Given the description of an element on the screen output the (x, y) to click on. 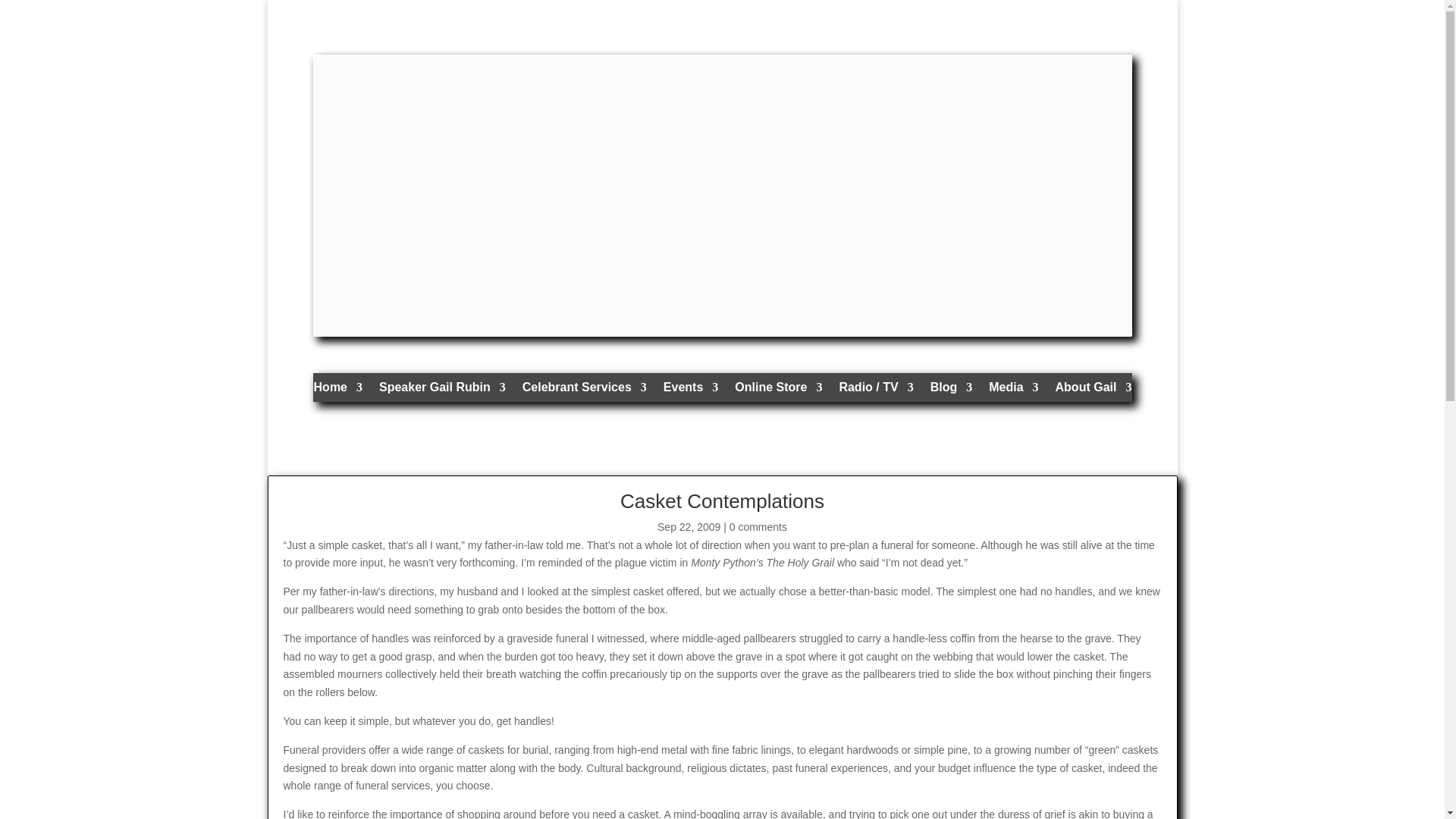
Blog (951, 390)
Speaker Gail Rubin (441, 390)
Funeral Services (584, 390)
Online Store (778, 390)
Home (338, 390)
Events (690, 390)
About Gail (1093, 390)
Media (1013, 390)
Celebrant Services (584, 390)
